Given the description of an element on the screen output the (x, y) to click on. 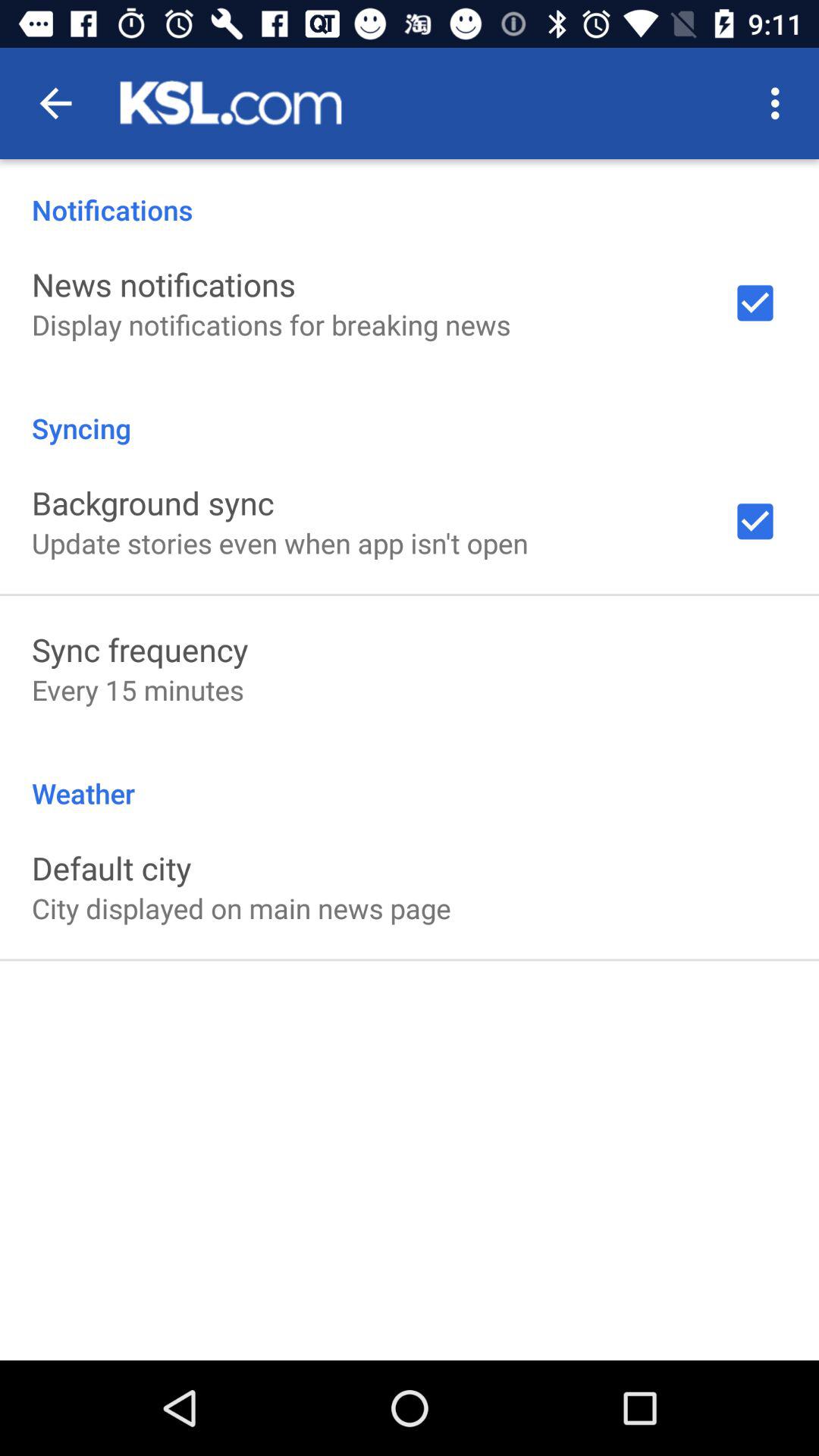
press item below syncing item (152, 502)
